Given the description of an element on the screen output the (x, y) to click on. 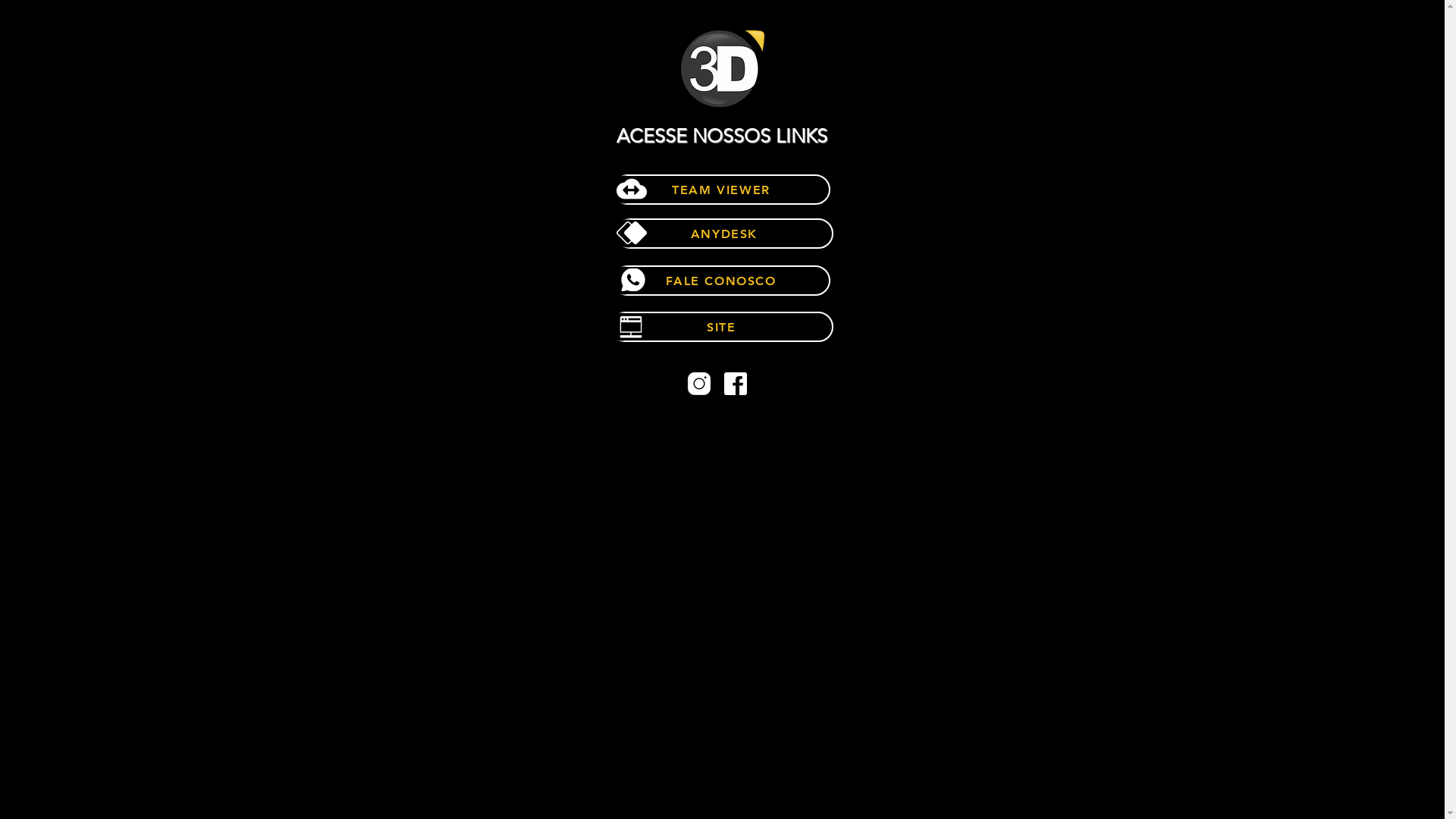
ANYDESK Element type: text (724, 233)
TEAM VIEWER Element type: text (721, 189)
SITE Element type: text (720, 326)
FALE CONOSCO Element type: text (721, 280)
